Given the description of an element on the screen output the (x, y) to click on. 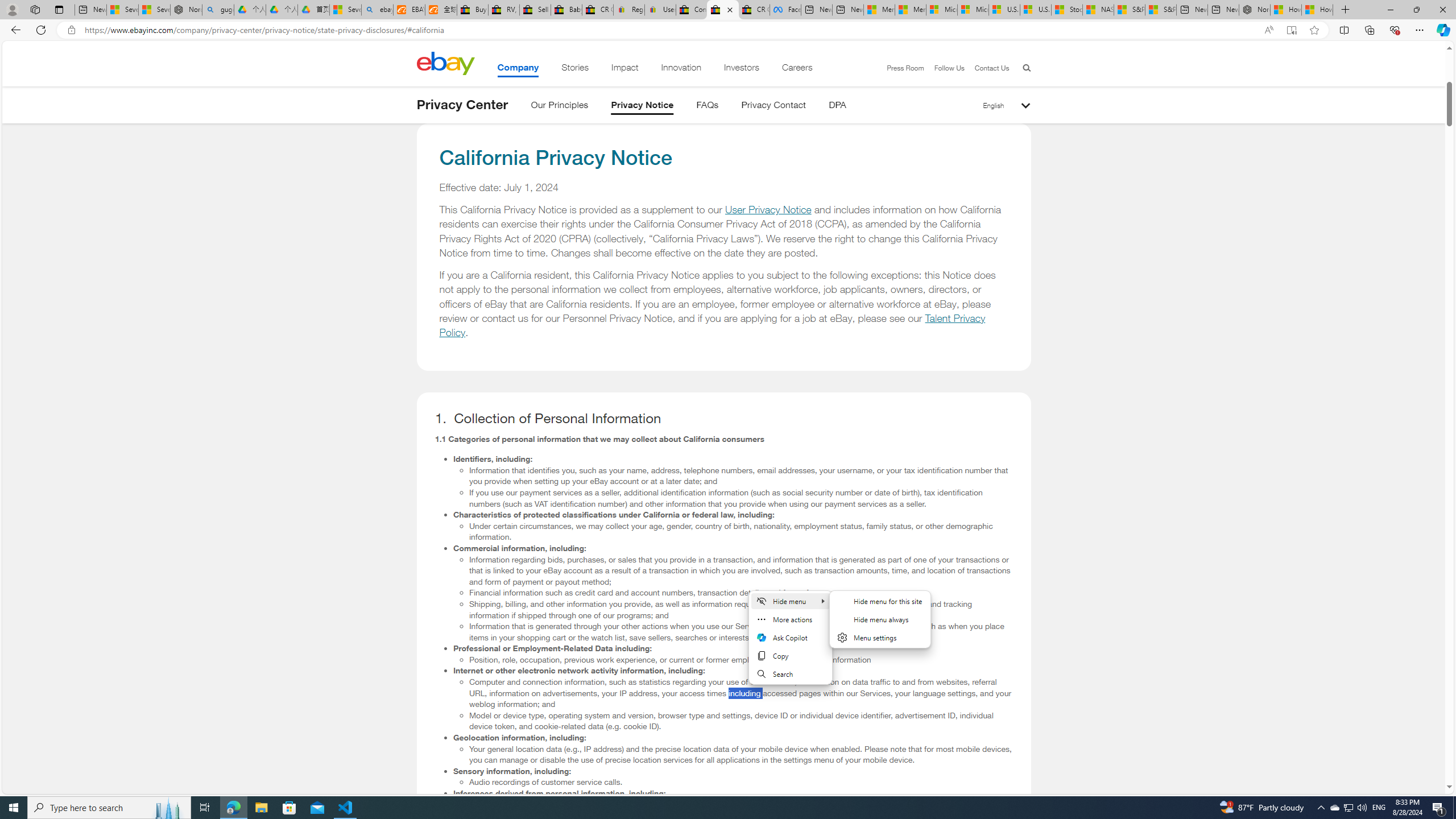
Menu settings (879, 637)
Privacy Contact (773, 107)
More actions (789, 619)
Privacy Notice (642, 107)
S&P 500, Nasdaq end lower, weighed by Nvidia dip | Watch (1160, 9)
Address and search bar (669, 29)
Audio recordings of customer service calls. (740, 781)
